Given the description of an element on the screen output the (x, y) to click on. 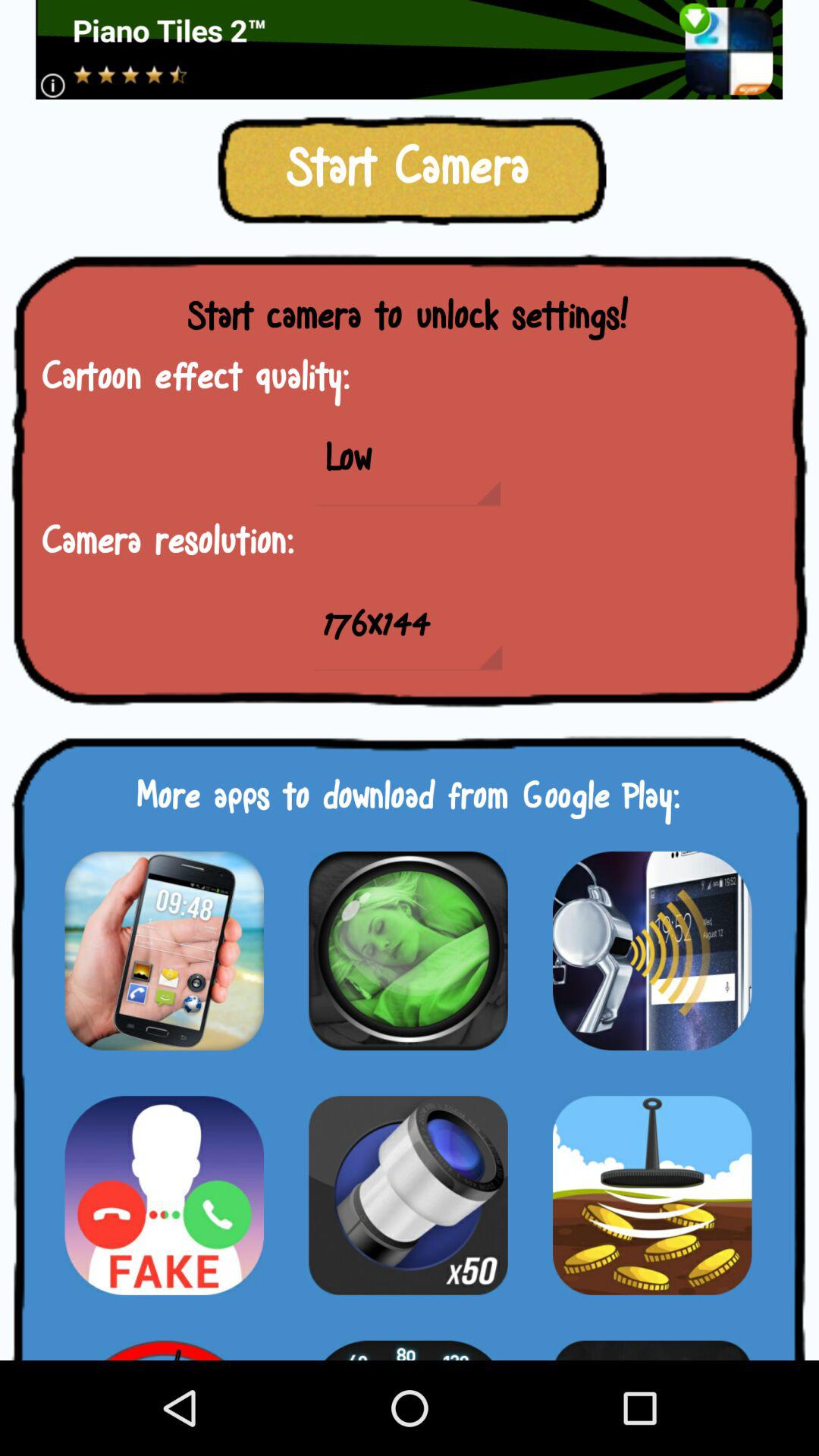
image to be descriptive (652, 950)
